Given the description of an element on the screen output the (x, y) to click on. 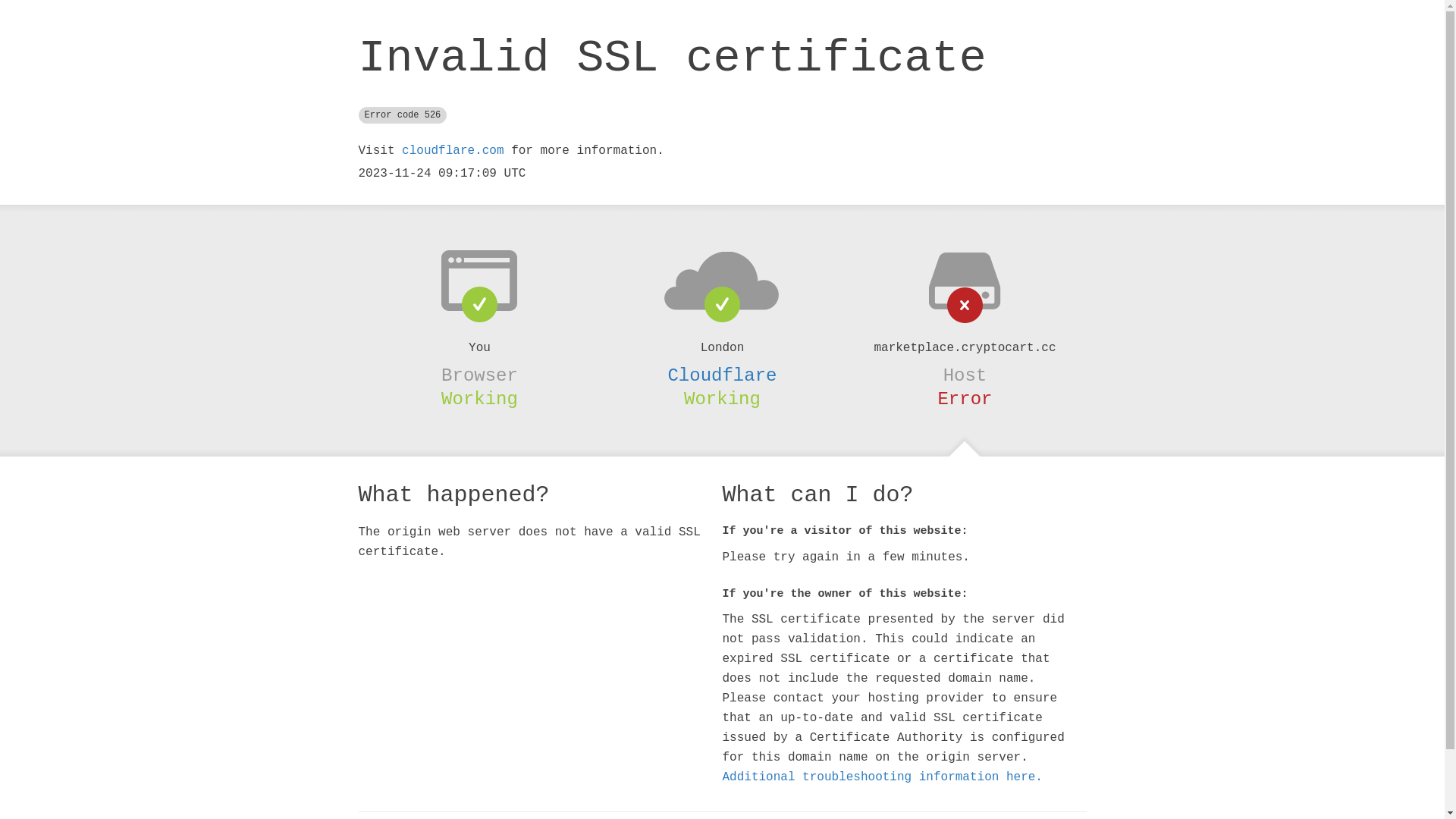
cloudflare.com Element type: text (452, 150)
Additional troubleshooting information here. Element type: text (881, 777)
Cloudflare Element type: text (721, 375)
